Given the description of an element on the screen output the (x, y) to click on. 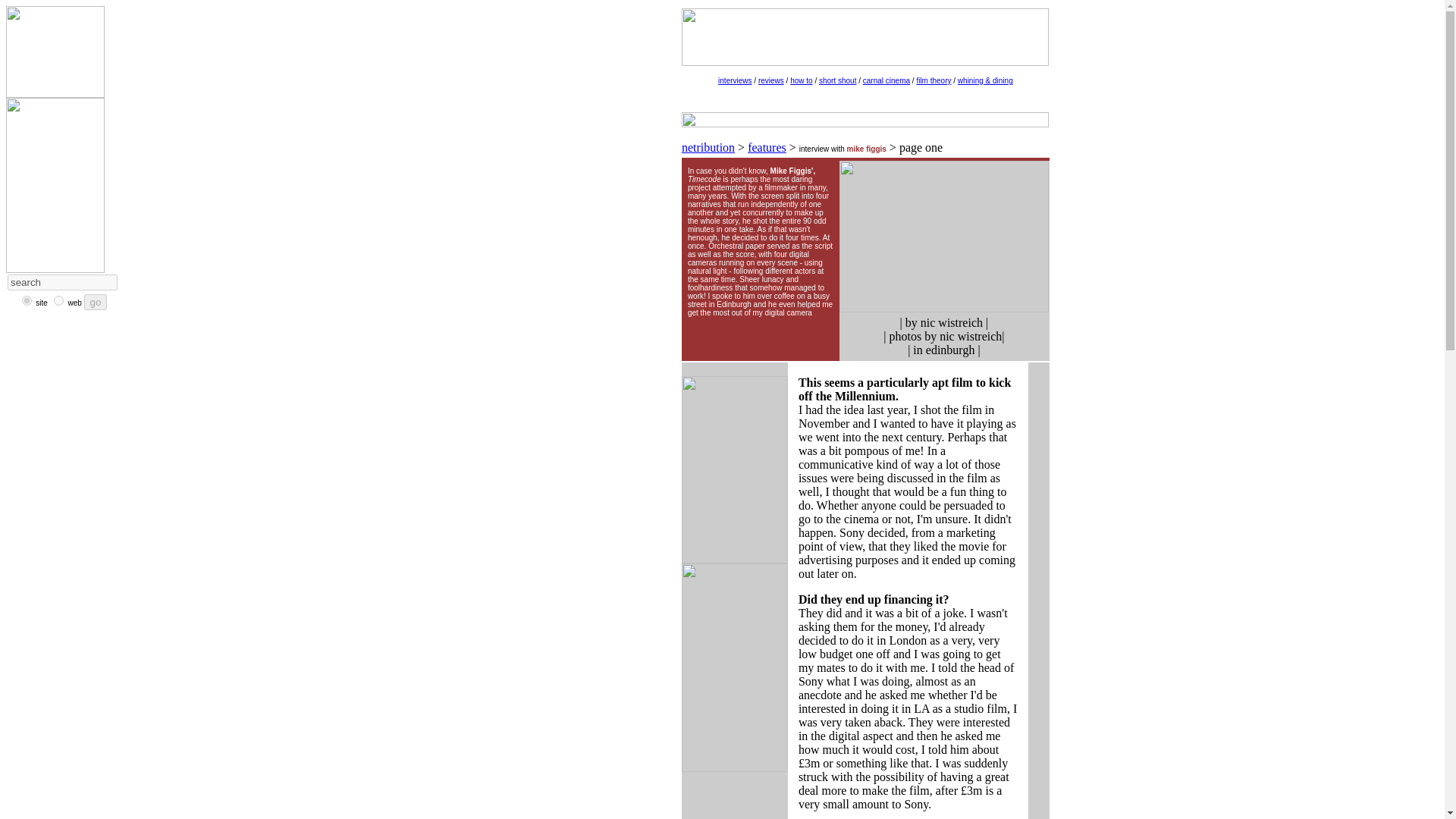
go (95, 302)
search (62, 282)
film theory (932, 80)
w (58, 300)
netribution (708, 146)
carnal cinema (886, 80)
features (767, 146)
reviews (771, 80)
interviews (734, 78)
go (95, 302)
s (26, 300)
short shout (837, 80)
how to (801, 80)
